Given the description of an element on the screen output the (x, y) to click on. 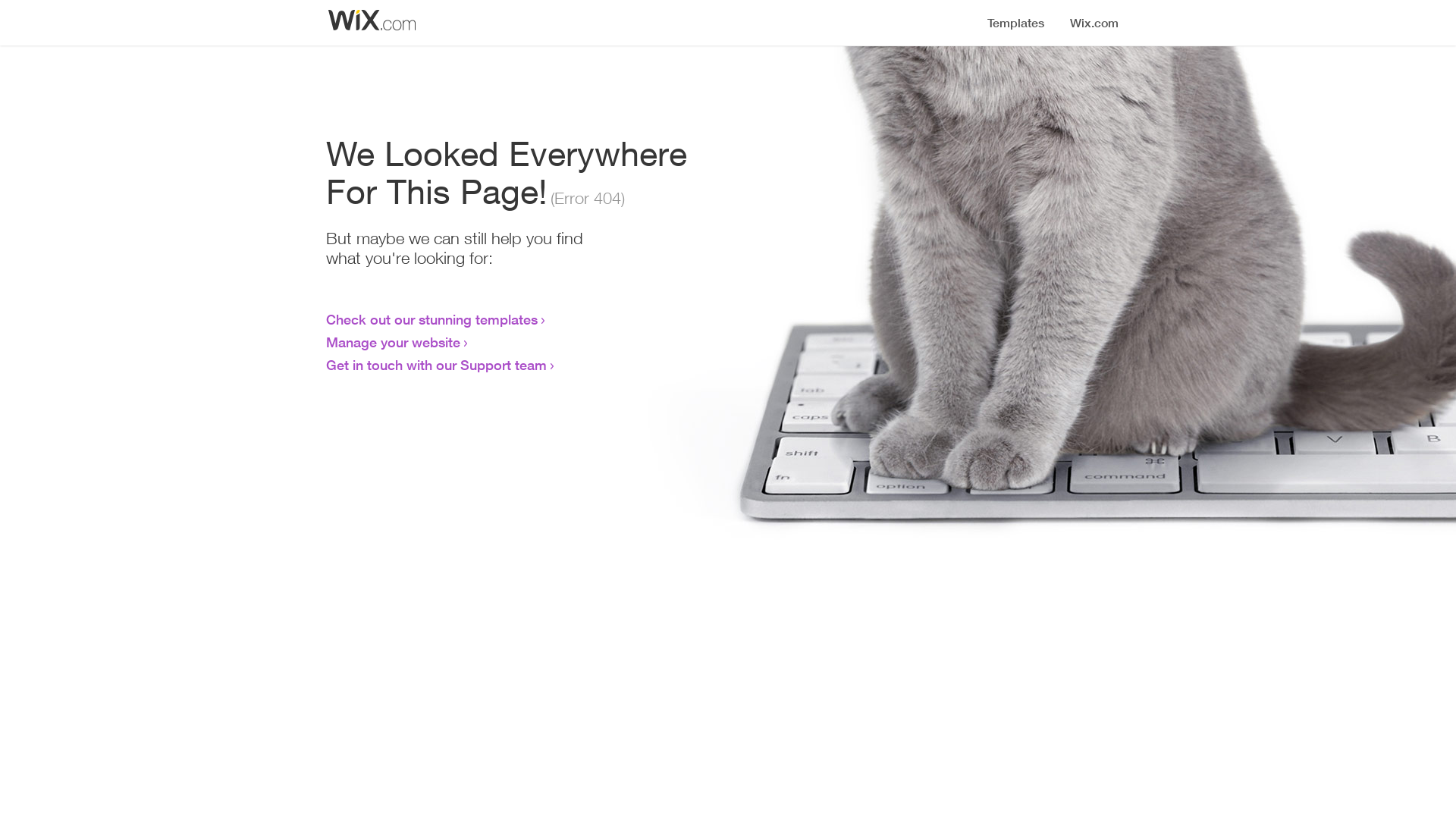
Get in touch with our Support team Element type: text (436, 364)
Check out our stunning templates Element type: text (431, 318)
Manage your website Element type: text (393, 341)
